Given the description of an element on the screen output the (x, y) to click on. 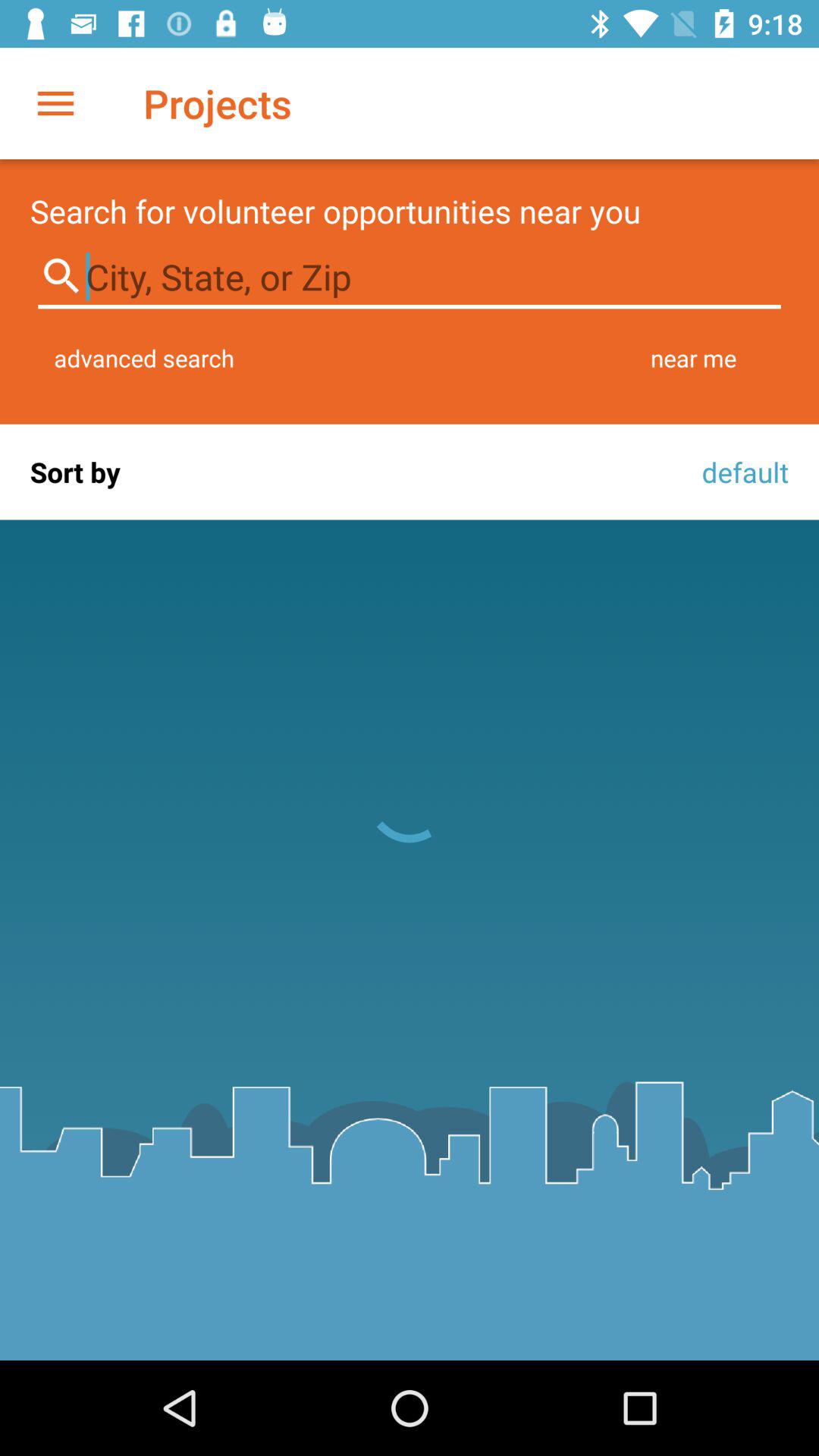
click the item above the sort by item (144, 358)
